Given the description of an element on the screen output the (x, y) to click on. 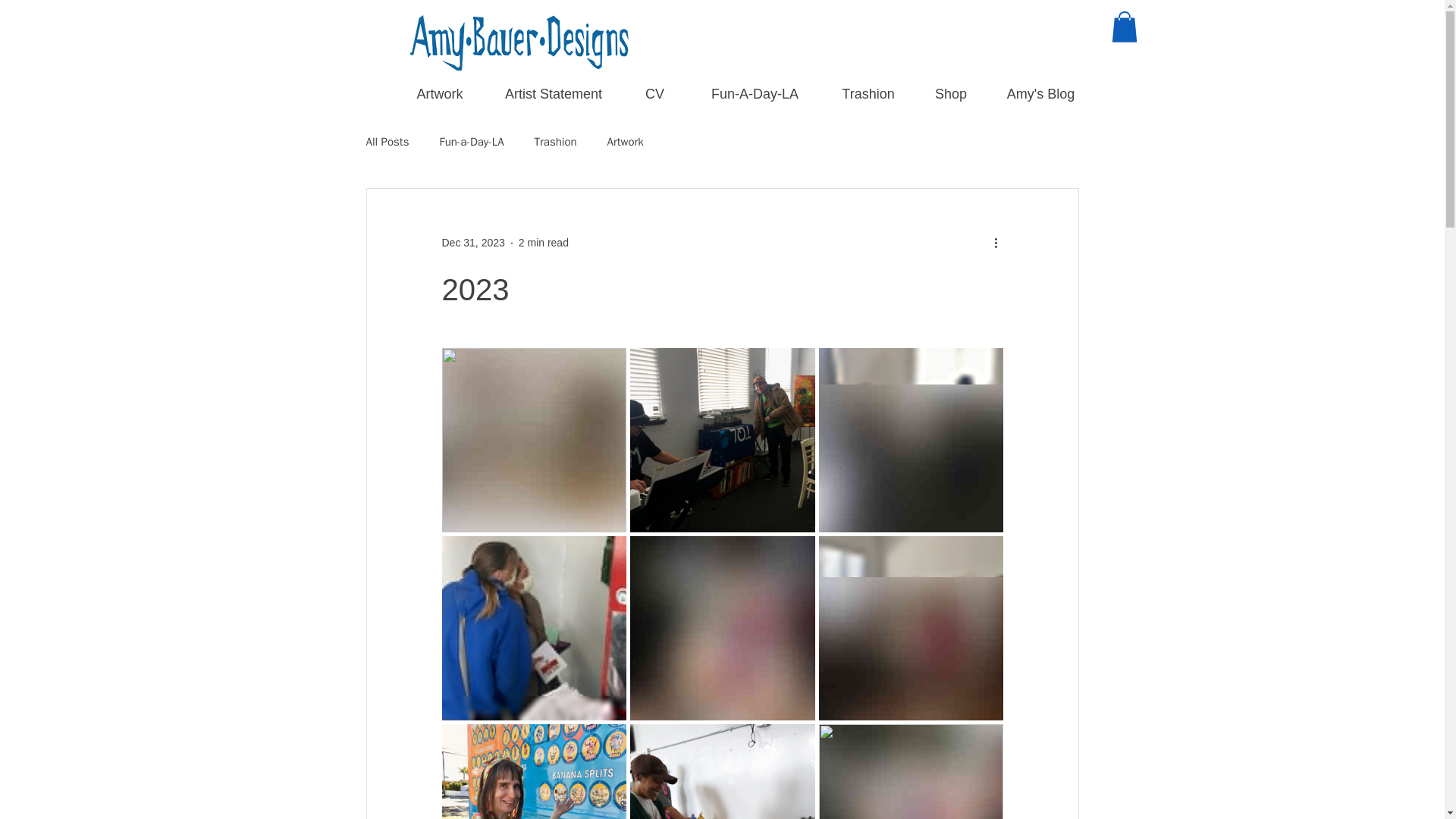
Artwork (439, 94)
Amy's Blog (1040, 94)
Fun-a-Day-LA (471, 142)
Fun-A-Day-LA (754, 94)
2 min read (543, 242)
Trashion (868, 94)
Artist Statement (553, 94)
CV (654, 94)
Artwork (625, 142)
All Posts (387, 142)
